Given the description of an element on the screen output the (x, y) to click on. 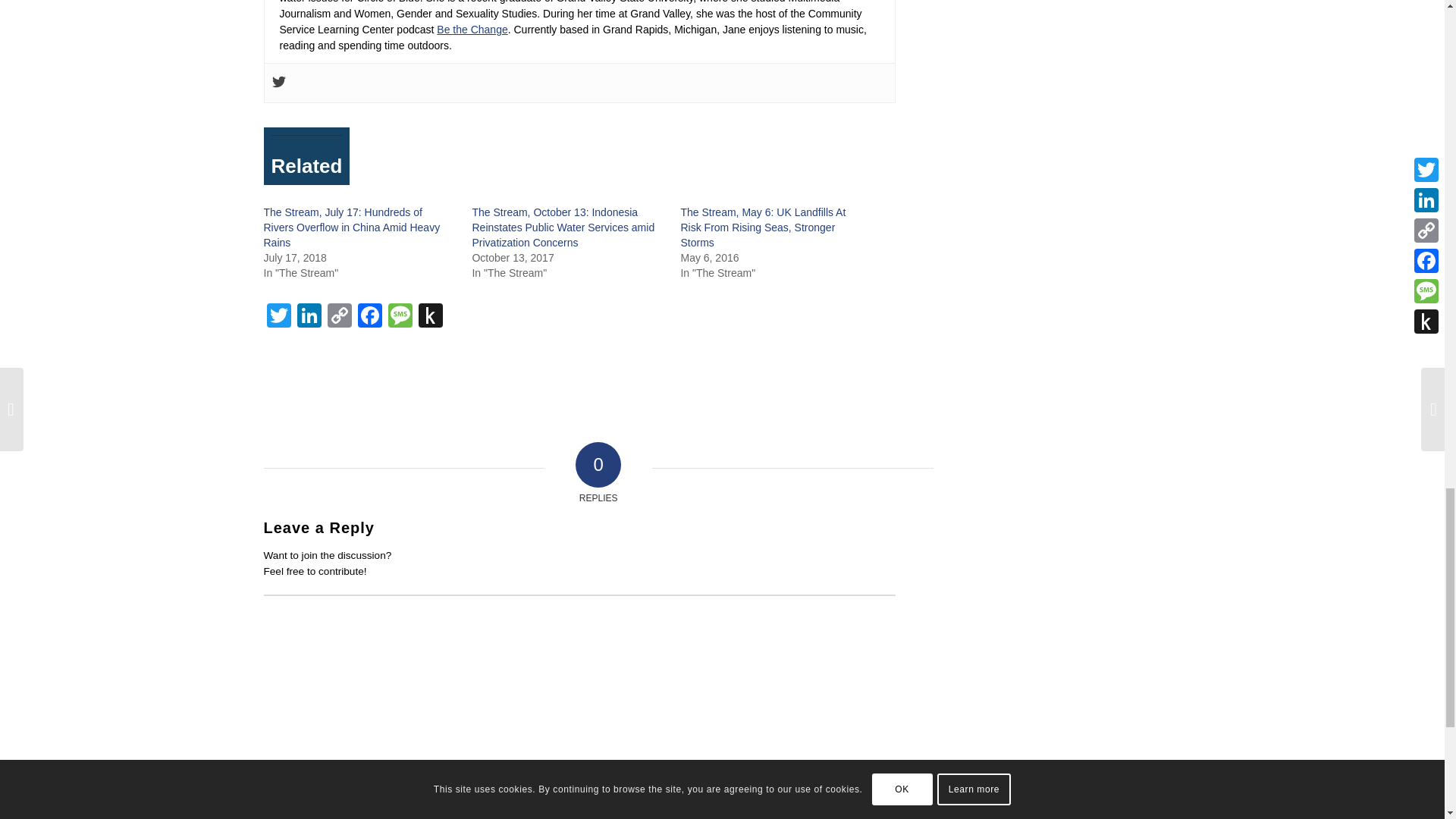
LinkedIn (309, 317)
Push to Kindle (429, 317)
Facebook (370, 317)
Message (399, 317)
Twitter (278, 317)
Copy Link (339, 317)
